Given the description of an element on the screen output the (x, y) to click on. 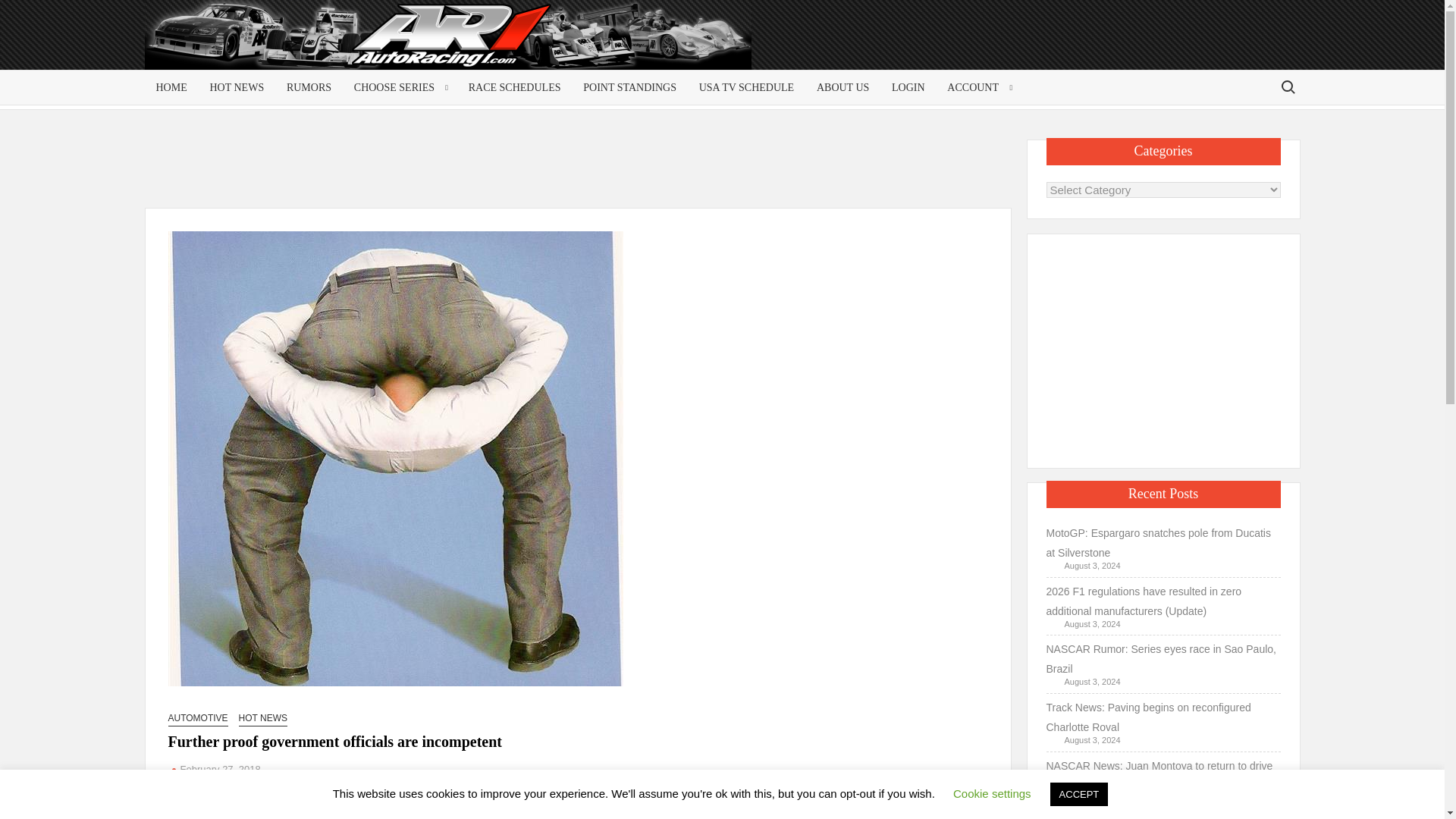
Advertisement (1178, 46)
Advertisement (1162, 348)
RUMORS (308, 87)
Copy Link (242, 811)
Email (221, 811)
Facebook (178, 811)
Twitter (200, 811)
CHOOSE SERIES (399, 87)
HOME (171, 87)
Advertisement (580, 173)
AUTORACING1.COM (289, 40)
Outlook.com (264, 811)
HOT NEWS (236, 87)
